Given the description of an element on the screen output the (x, y) to click on. 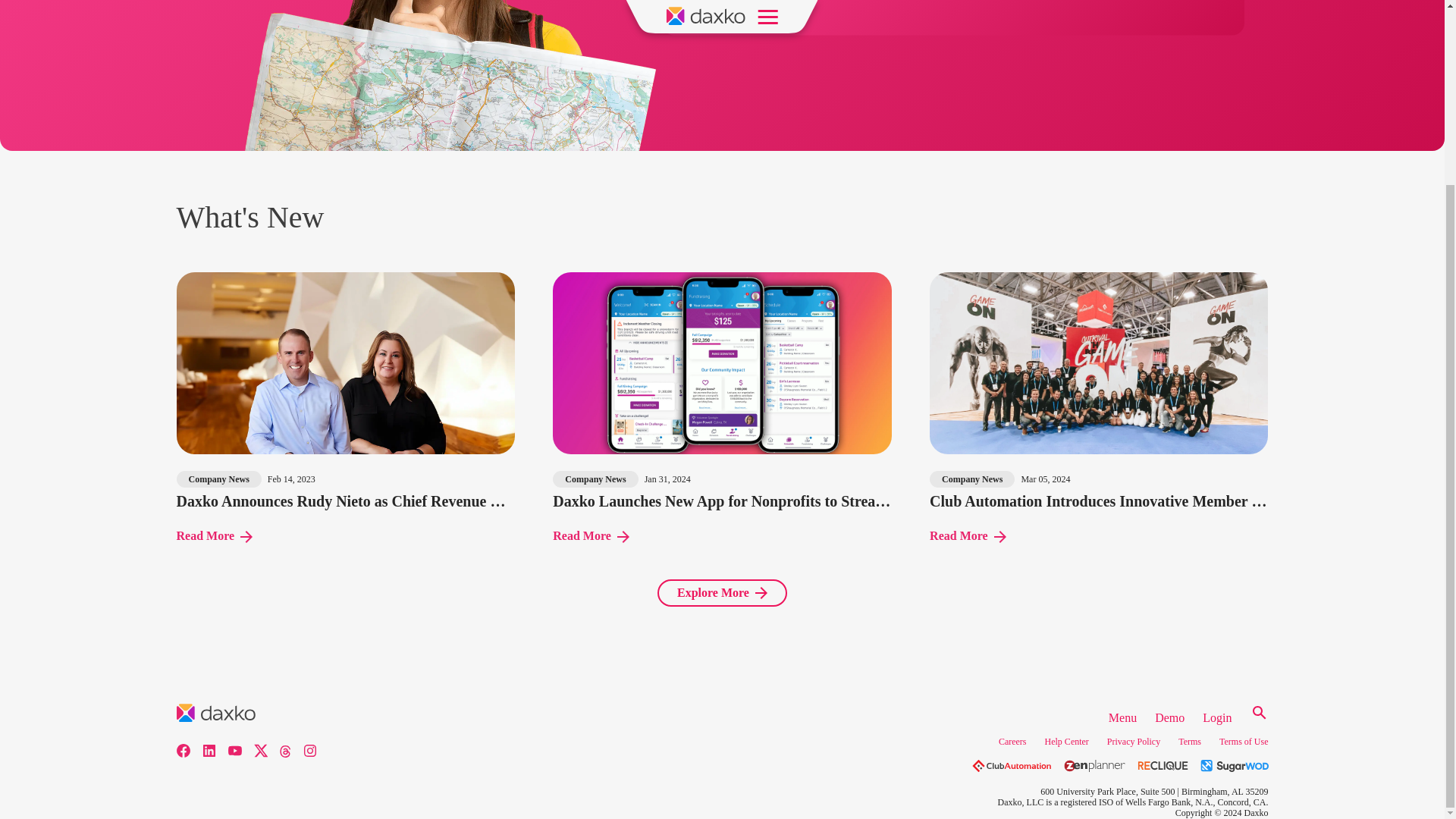
Company News (972, 478)
Explore More (722, 592)
Read More (590, 535)
Read More (968, 535)
Homepage (734, 8)
Read More (213, 535)
Company News (595, 478)
Company News (218, 478)
